Given the description of an element on the screen output the (x, y) to click on. 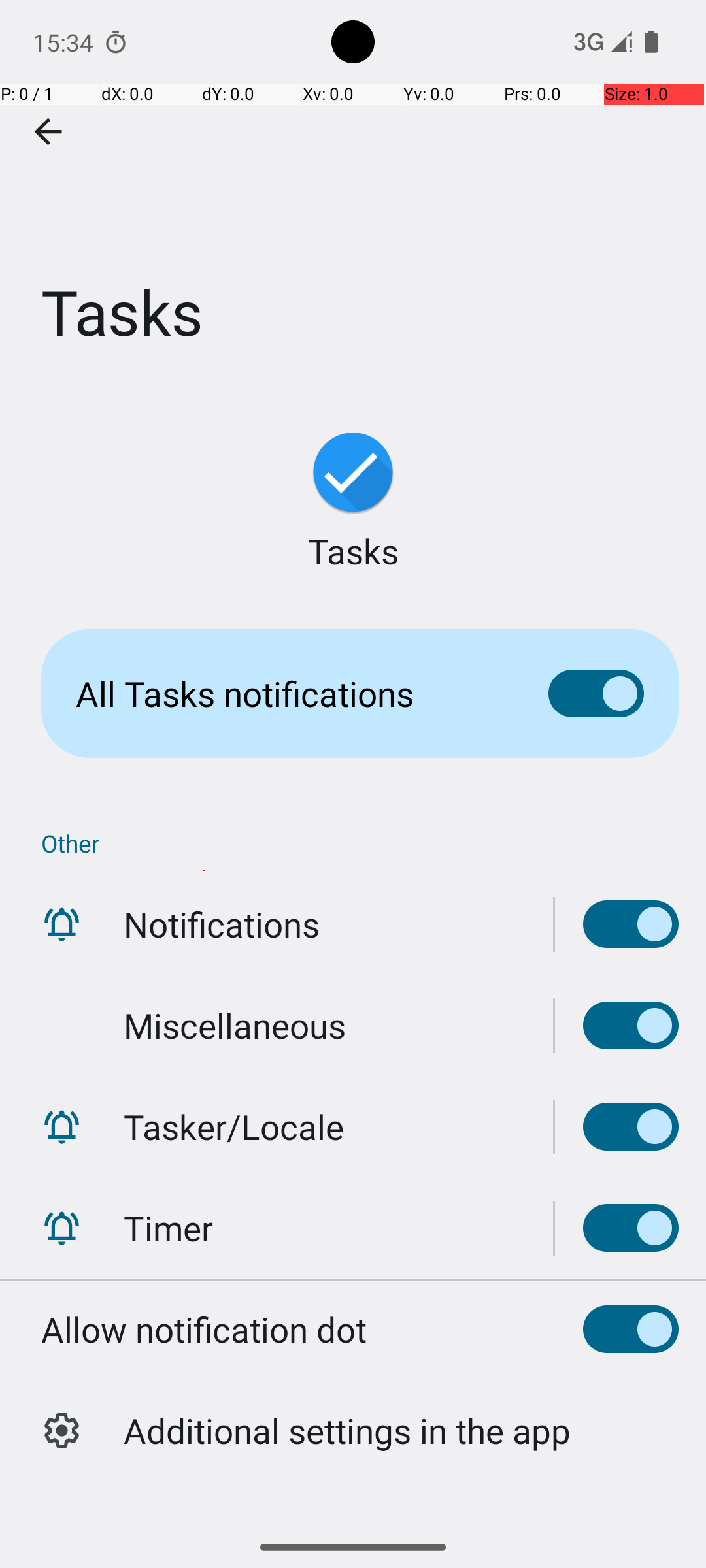
All Tasks notifications Element type: android.widget.TextView (291, 693)
Tasker/Locale Element type: android.widget.TextView (233, 1126)
